Given the description of an element on the screen output the (x, y) to click on. 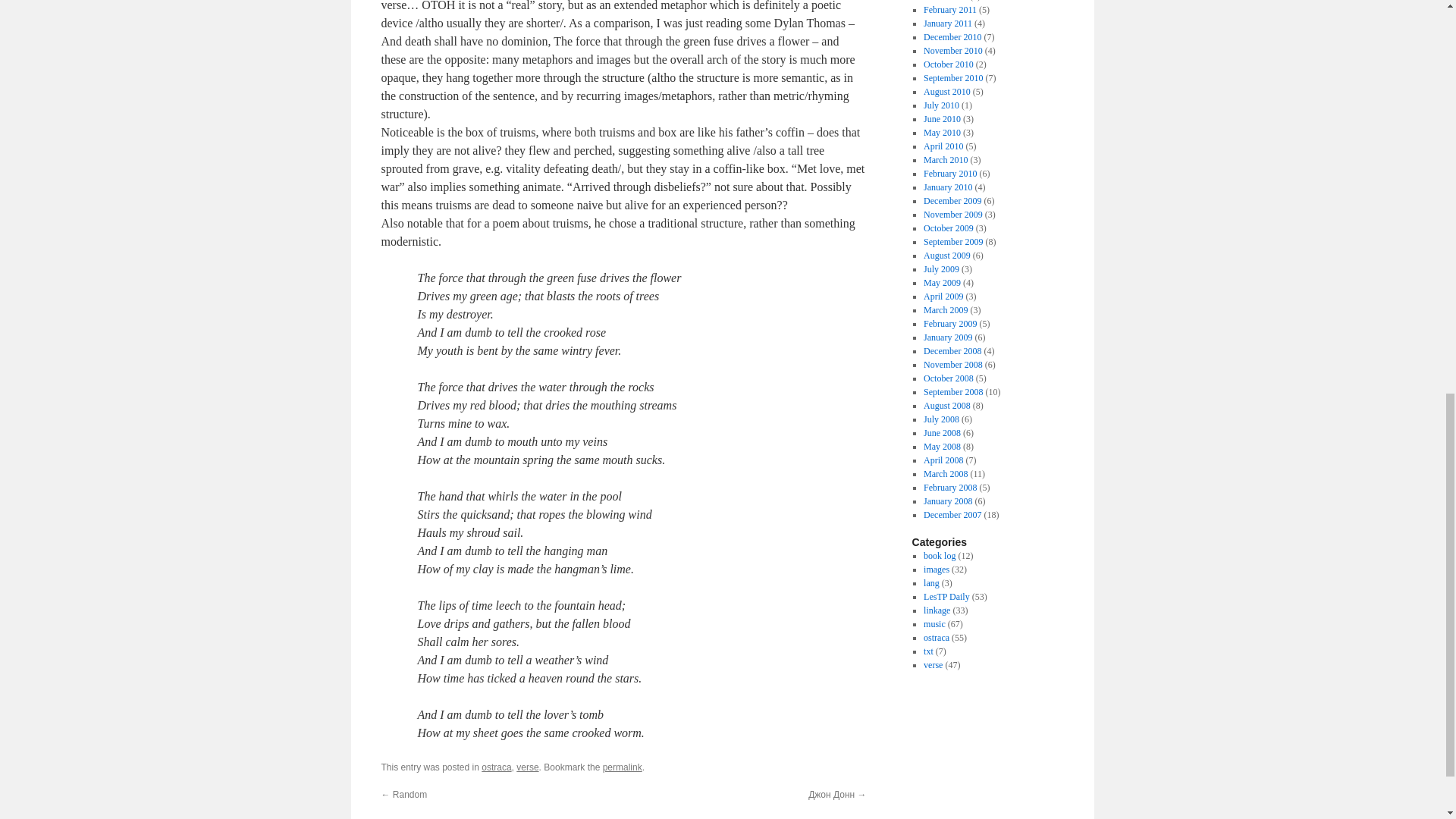
verse (527, 767)
ostraca (496, 767)
Permalink to Truisms (622, 767)
permalink (622, 767)
